Given the description of an element on the screen output the (x, y) to click on. 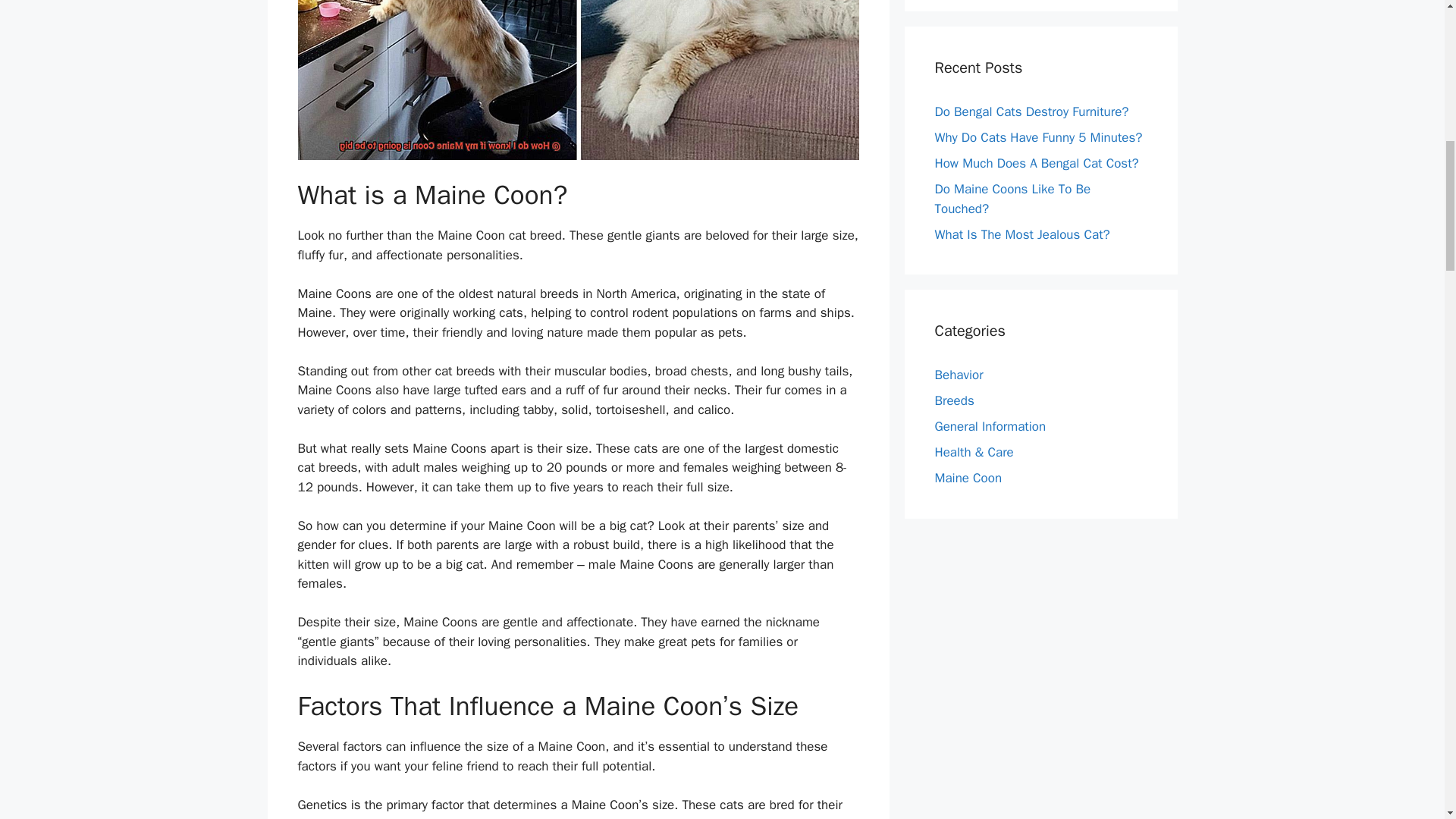
How Much Does A Bengal Cat Cost? (1036, 163)
Behavior (958, 374)
Breeds (954, 400)
Do Bengal Cats Destroy Furniture? (1031, 111)
What Is The Most Jealous Cat? (1021, 233)
Scroll back to top (1406, 720)
General Information (989, 426)
How do I know if my Maine Coon is going to be big? (578, 79)
Do Maine Coons Like To Be Touched? (1012, 198)
Why Do Cats Have Funny 5 Minutes? (1037, 137)
